Given the description of an element on the screen output the (x, y) to click on. 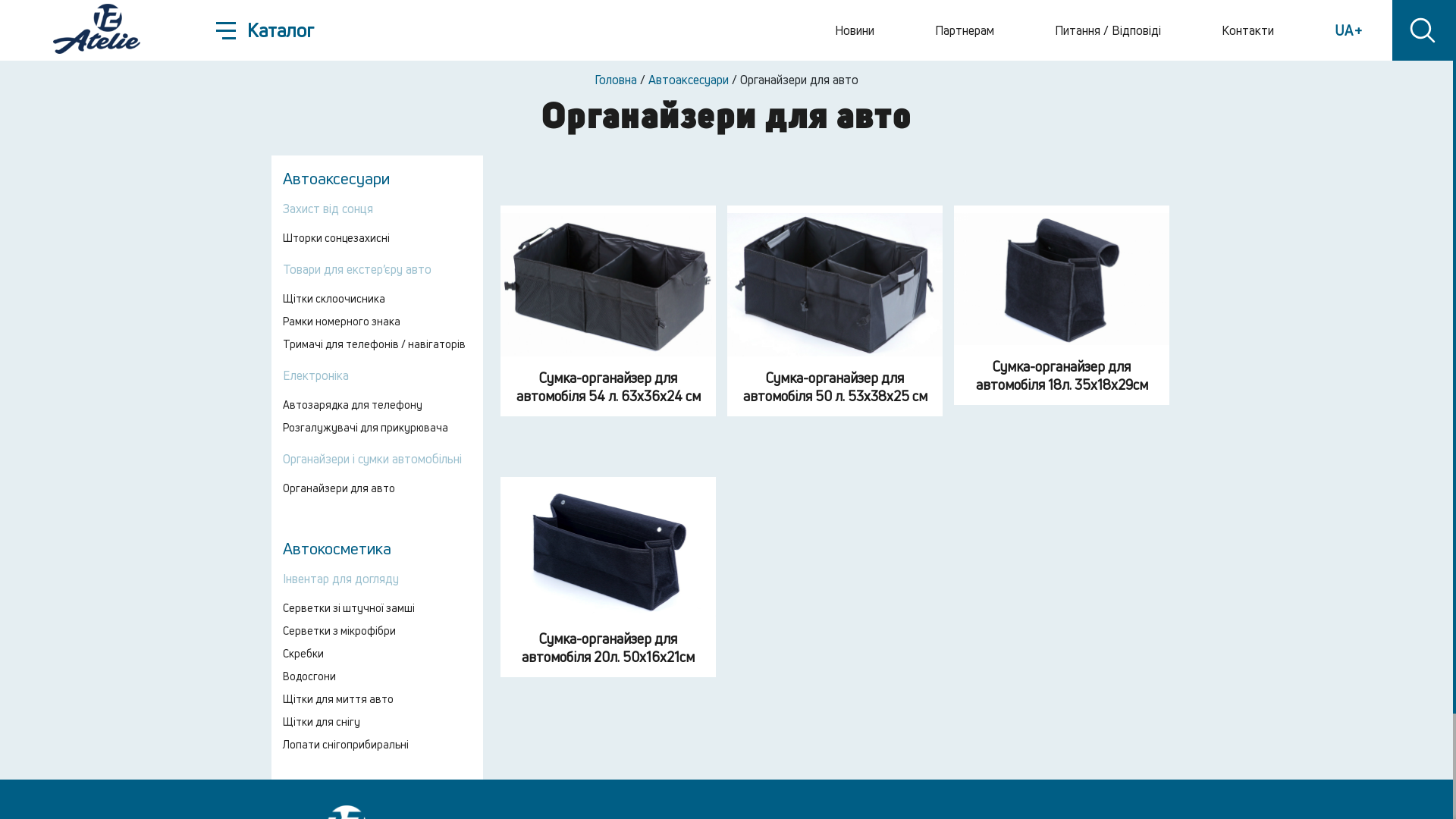
UA    Element type: text (1347, 30)
